Given the description of an element on the screen output the (x, y) to click on. 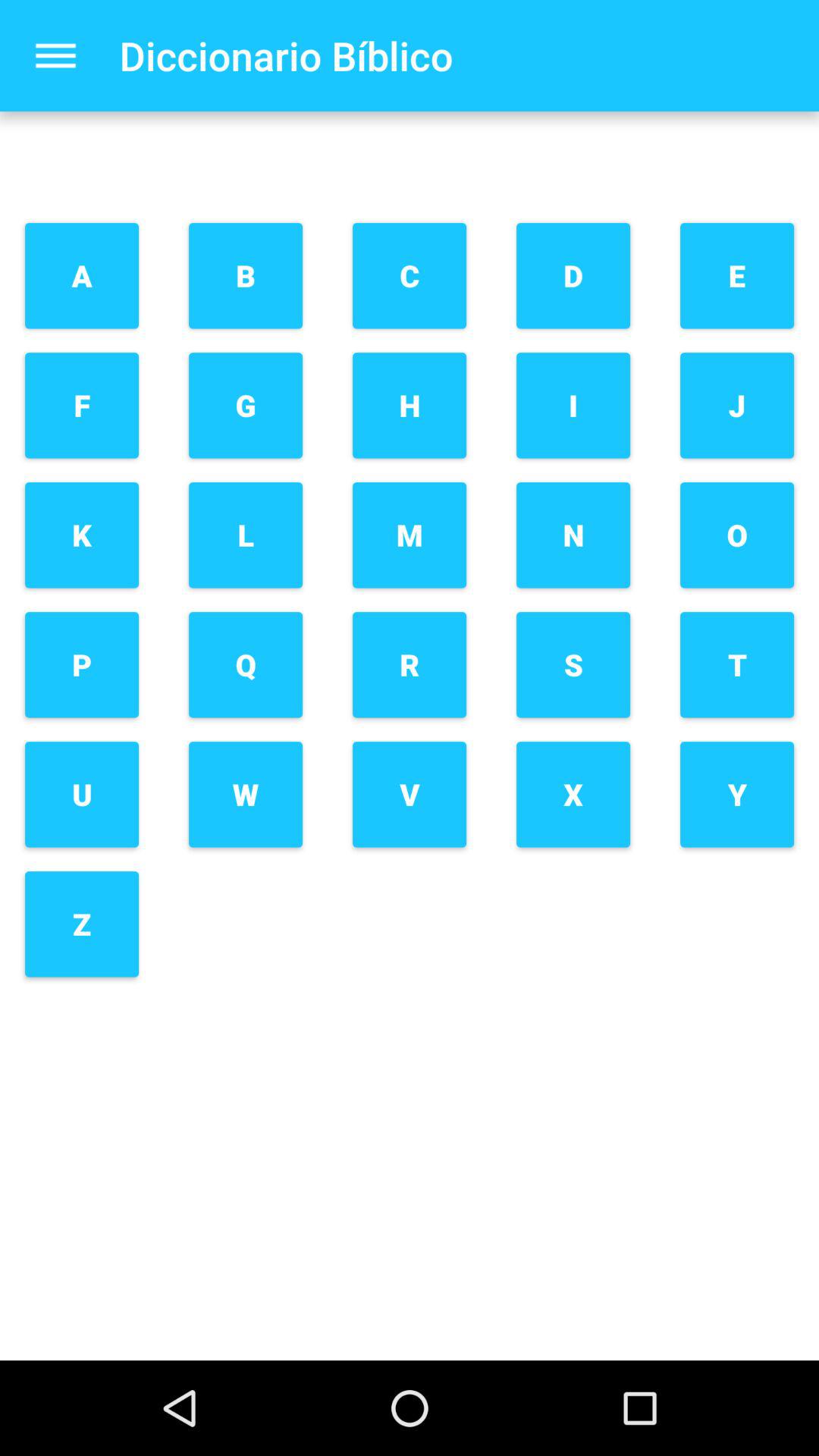
swipe until the v button (409, 794)
